Given the description of an element on the screen output the (x, y) to click on. 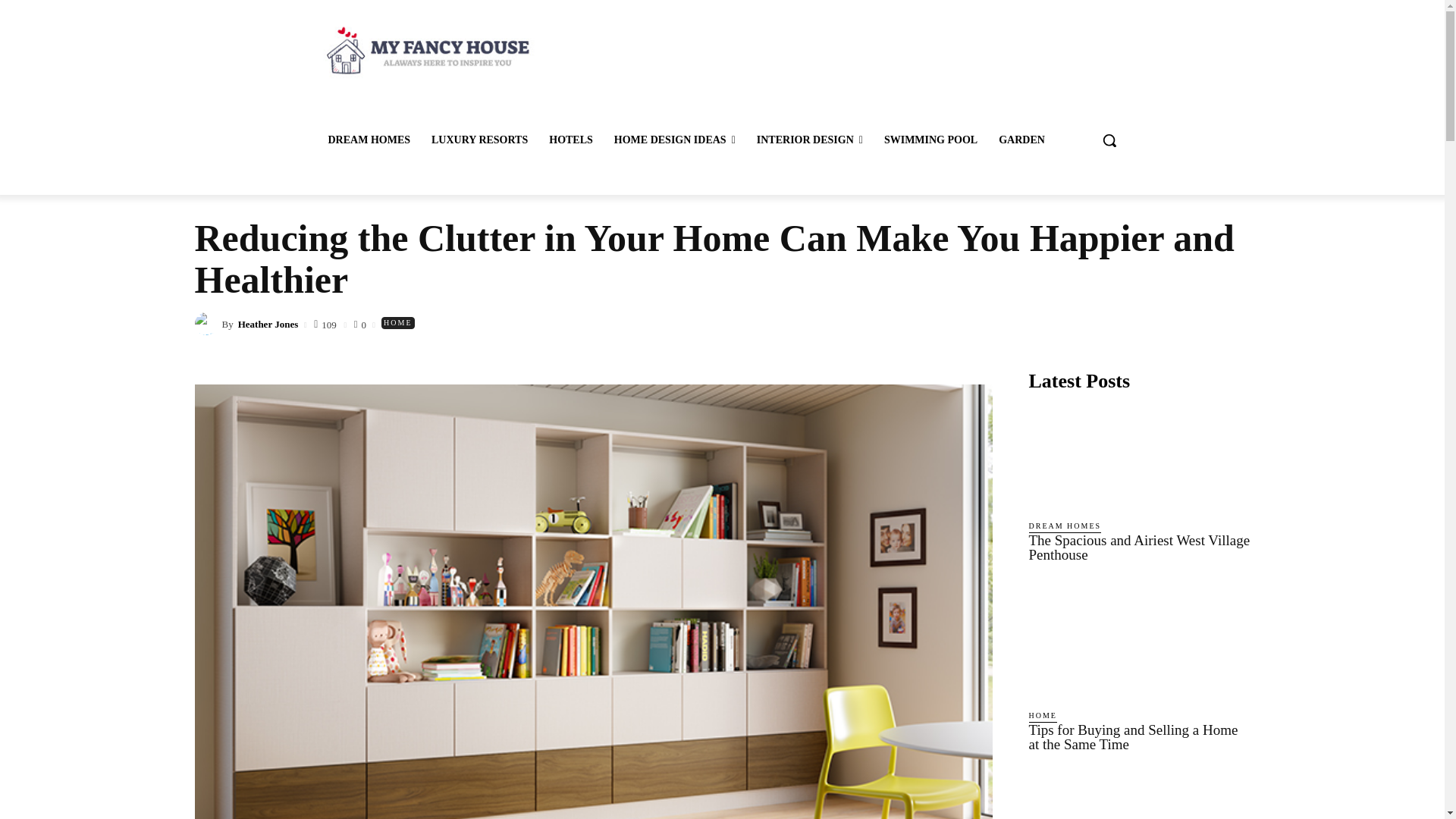
INTERIOR DESIGN (809, 140)
DREAM HOMES (368, 140)
HOTELS (571, 140)
LUXURY RESORTS (479, 140)
Heather Jones (207, 323)
HOME DESIGN IDEAS (674, 140)
MyFancyHouse (425, 49)
